Given the description of an element on the screen output the (x, y) to click on. 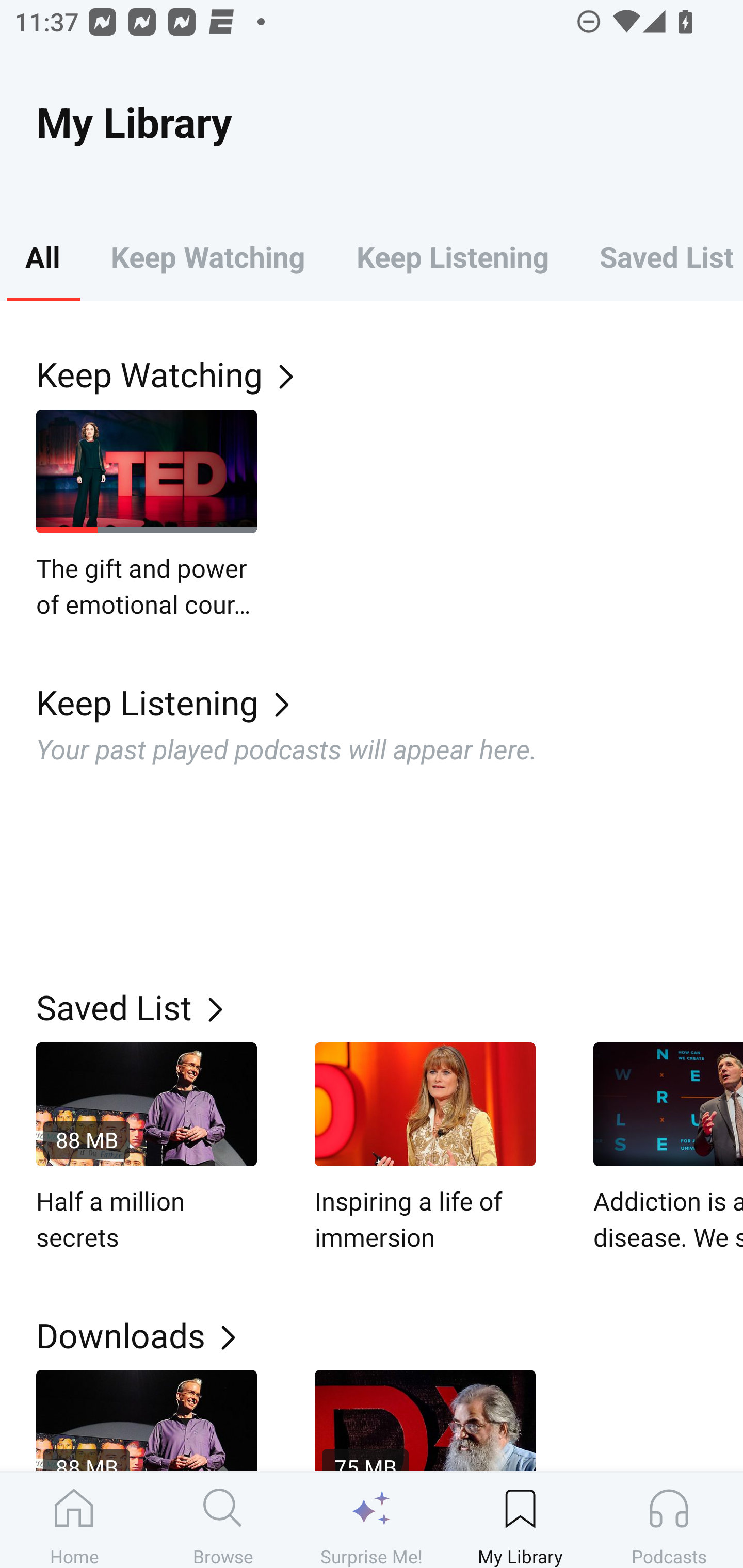
All (42, 256)
Keep Watching (207, 256)
Keep Listening (452, 256)
Saved List (658, 256)
Keep Watching (389, 373)
The gift and power of emotional courage (146, 514)
Keep Listening (389, 702)
Saved List (389, 1007)
88 MB Half a million secrets (146, 1148)
Inspiring a life of immersion (425, 1148)
Downloads (389, 1334)
88 MB (146, 1420)
75 MB (425, 1420)
Home (74, 1520)
Browse (222, 1520)
Surprise Me! (371, 1520)
My Library (519, 1520)
Podcasts (668, 1520)
